Given the description of an element on the screen output the (x, y) to click on. 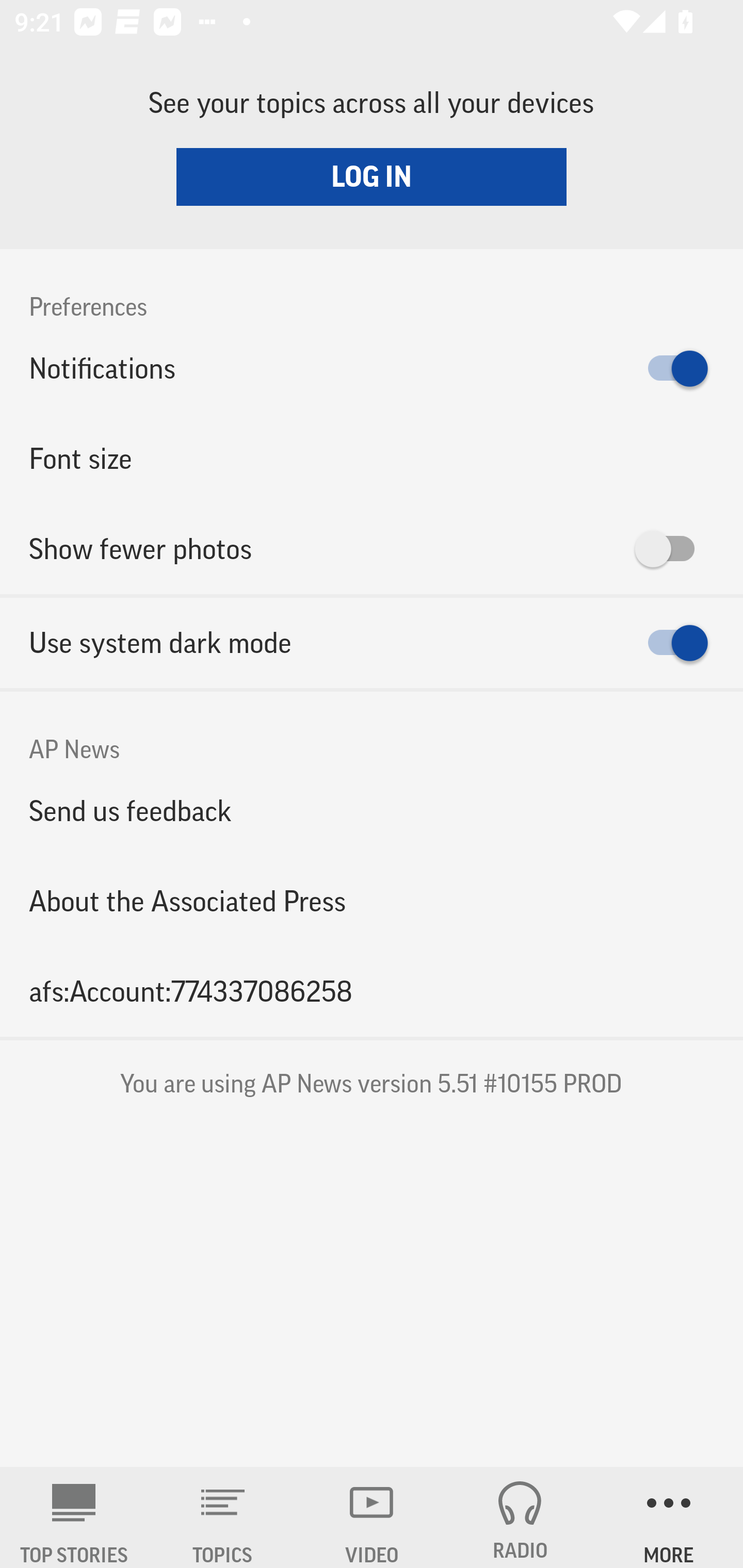
LOG IN (371, 176)
Notifications (371, 368)
Font size (371, 458)
Show fewer photos (371, 548)
Use system dark mode (371, 642)
Send us feedback (371, 810)
About the Associated Press (371, 901)
afs:Account:774337086258 (371, 991)
AP News TOP STORIES (74, 1517)
TOPICS (222, 1517)
VIDEO (371, 1517)
RADIO (519, 1517)
MORE (668, 1517)
